Given the description of an element on the screen output the (x, y) to click on. 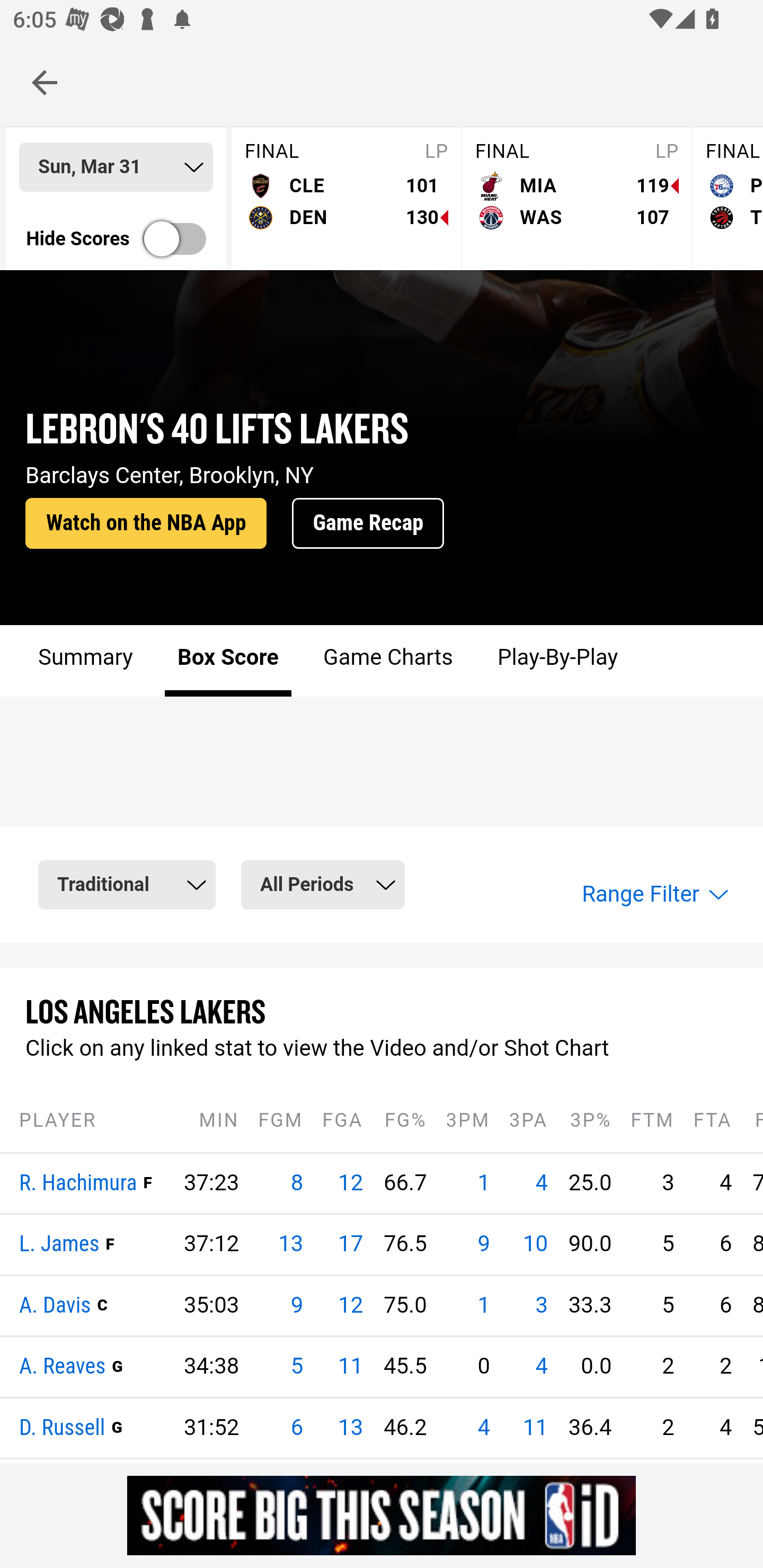
Navigate up (44, 82)
Sun, Mar 31 (115, 168)
Watch on the NBA App (146, 524)
Game Recap (367, 524)
Summary Summary Summary (85, 661)
Box Score Box Score Box Score (228, 661)
Game Charts Game Charts Game Charts (387, 661)
Play-By-Play Play-By-Play Play-By-Play (556, 661)
Traditional (126, 885)
All Periods (322, 885)
Range Filter (653, 894)
R. Hachimura R .  Hachimura (78, 1183)
8 (296, 1183)
12 (350, 1183)
1 (483, 1183)
4 (541, 1183)
L. James L .  James (59, 1245)
13 (290, 1244)
17 (350, 1244)
9 (483, 1244)
10 (534, 1244)
A. Davis A .  Davis (55, 1306)
9 (296, 1306)
12 (350, 1306)
1 (483, 1306)
3 (541, 1306)
A. Reaves A .  Reaves (62, 1368)
5 (296, 1367)
11 (350, 1367)
4 (541, 1367)
D. Russell D .  Russell (62, 1428)
6 (296, 1428)
13 (350, 1428)
4 (483, 1428)
11 (534, 1428)
g5nqqygr7owph (381, 1515)
